Given the description of an element on the screen output the (x, y) to click on. 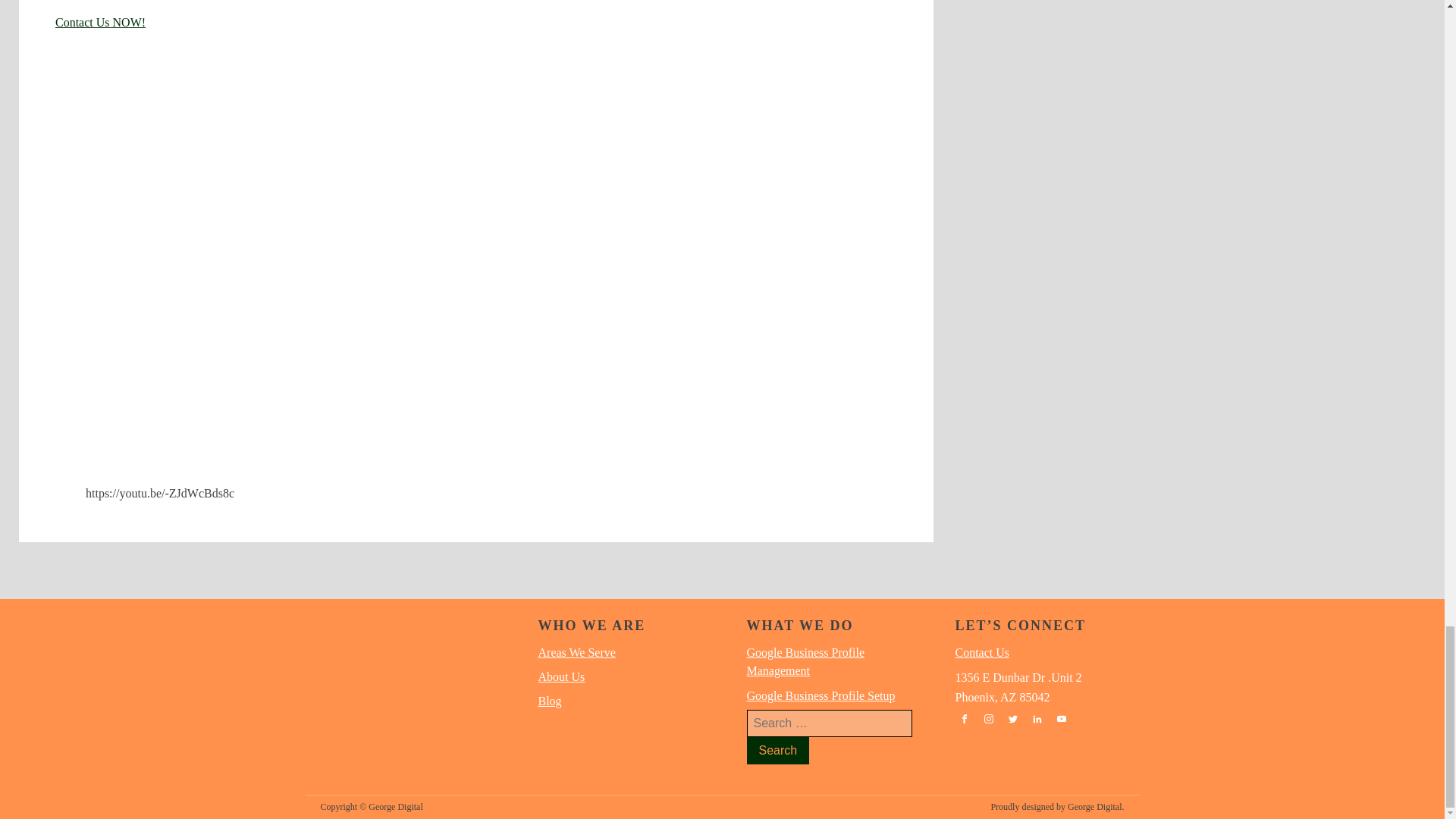
Search (777, 750)
Contact Us NOW! (100, 21)
Search (777, 750)
